Given the description of an element on the screen output the (x, y) to click on. 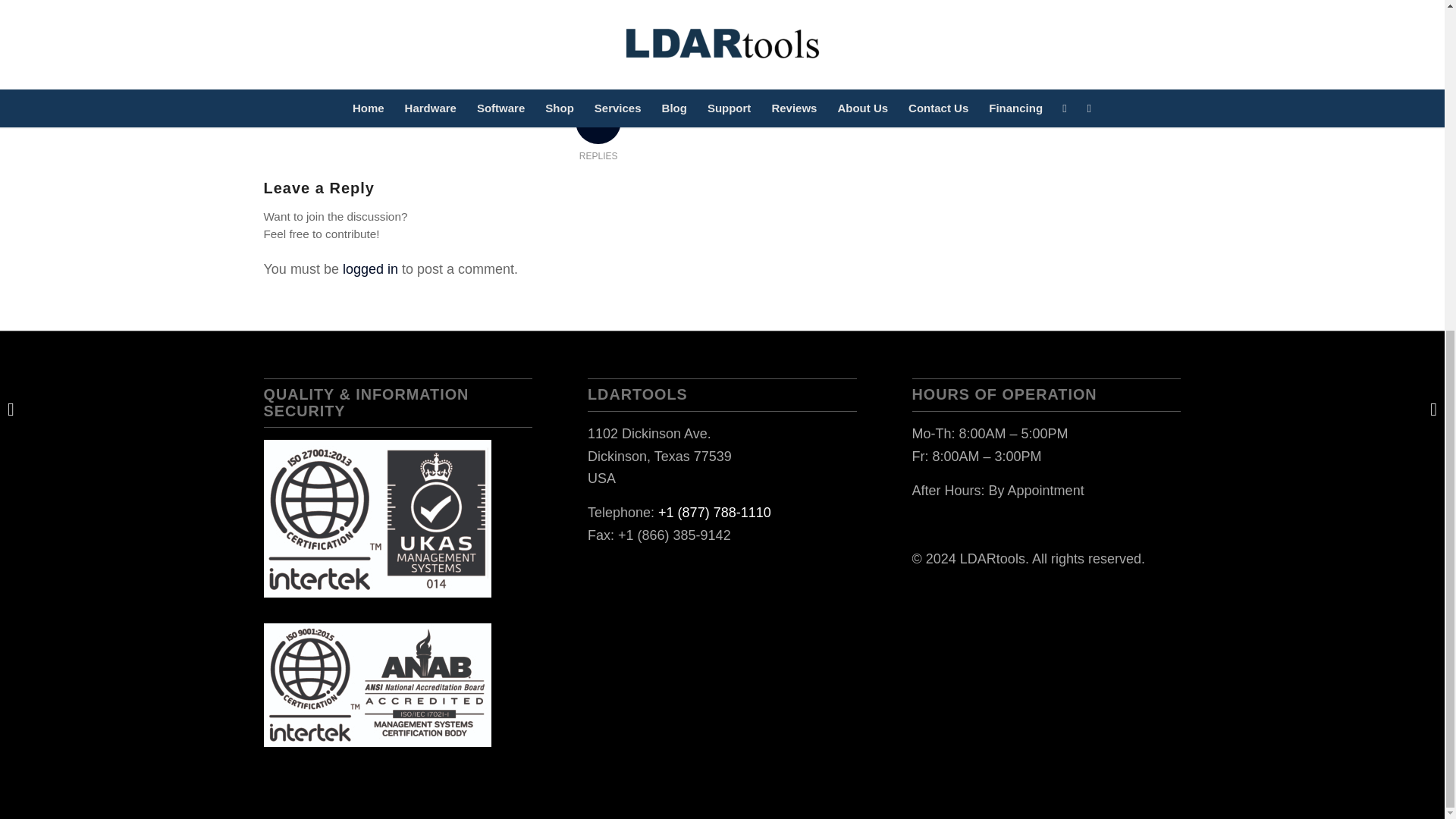
Sign up (1004, 12)
